Given the description of an element on the screen output the (x, y) to click on. 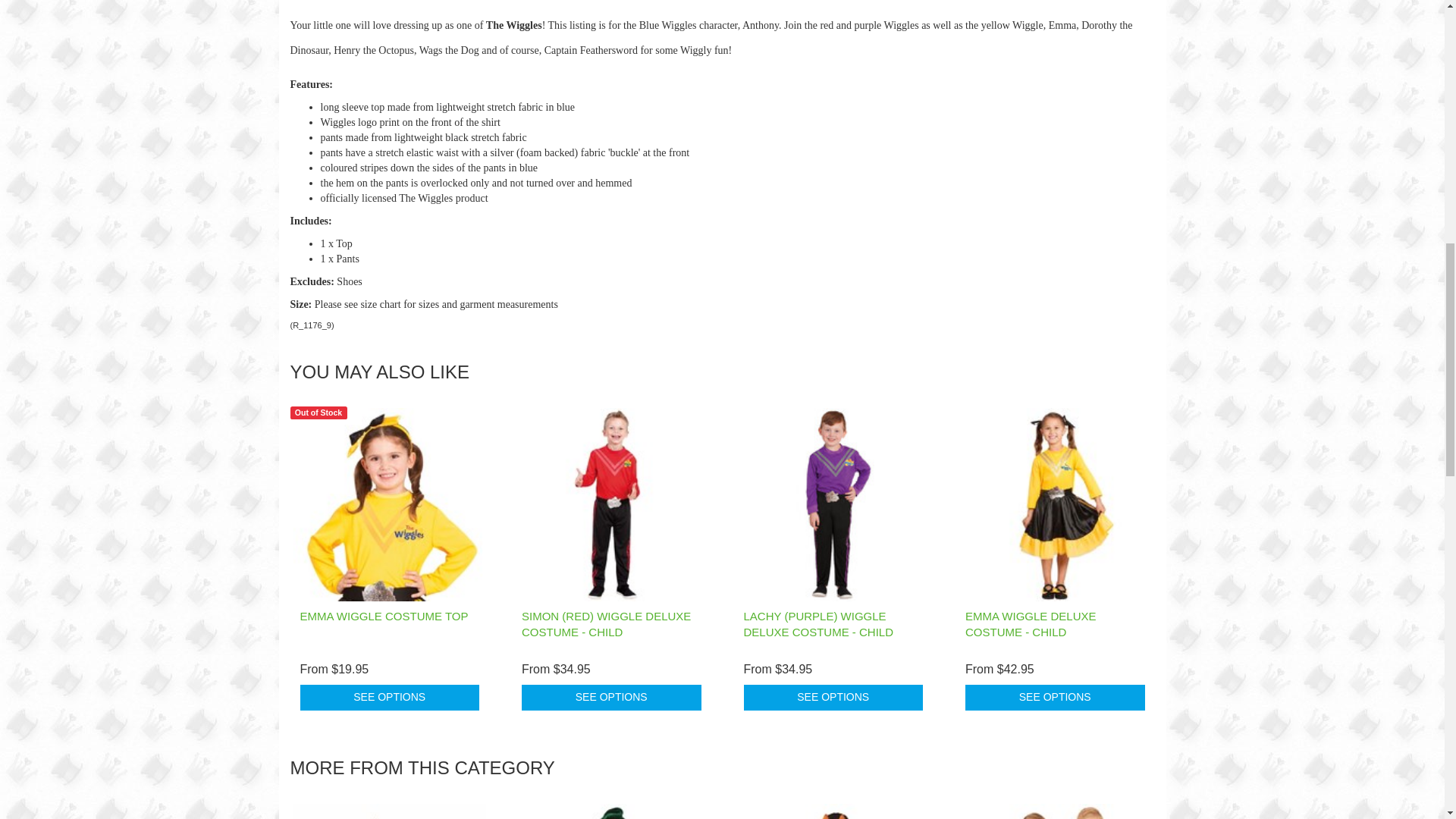
Emma Wiggle Costume Top (383, 615)
Buying Options (832, 697)
Buying Options (389, 697)
Buying Options (611, 697)
Emma Wiggle Deluxe Costume - Child (1030, 623)
